Given the description of an element on the screen output the (x, y) to click on. 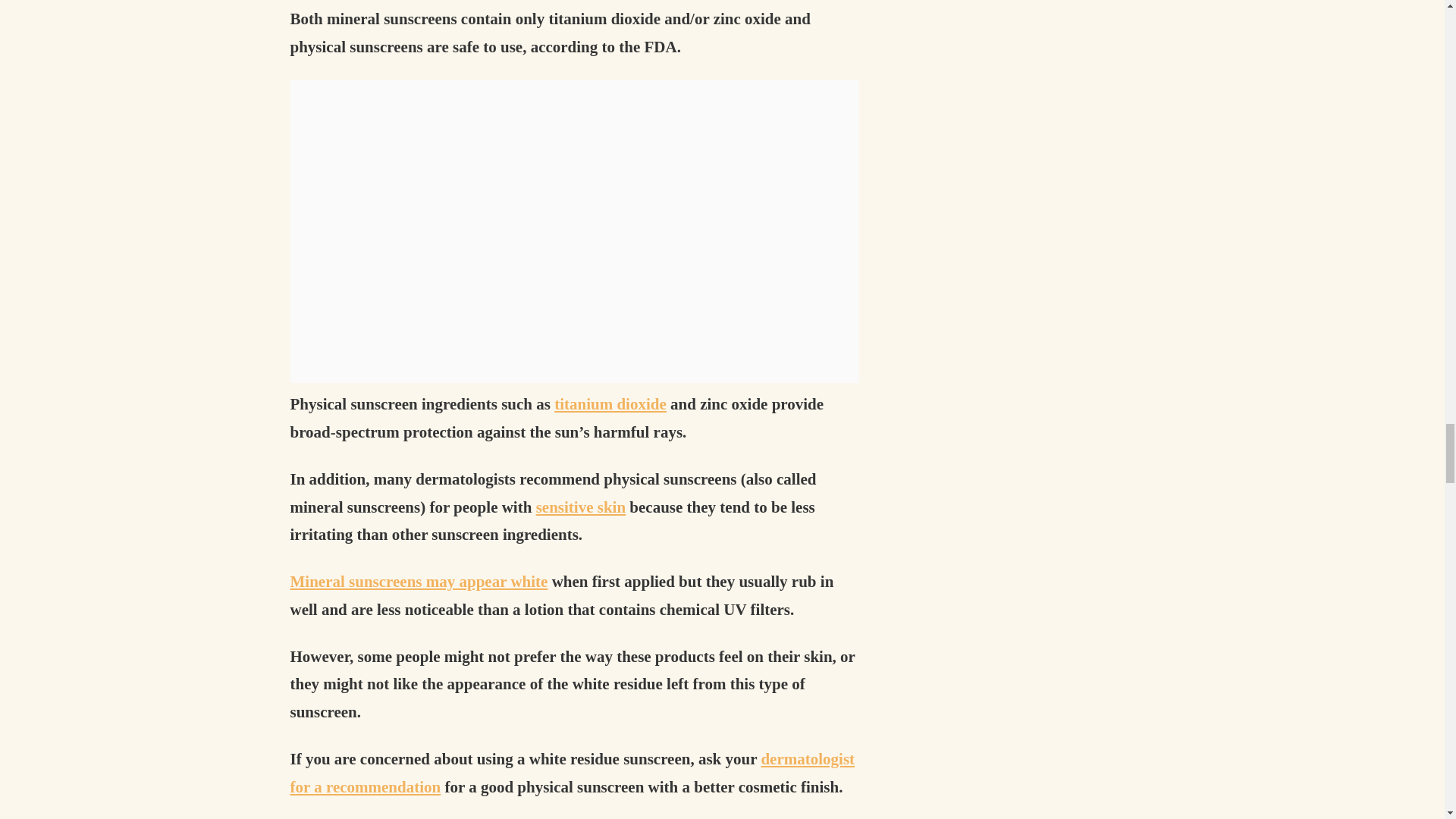
sensitive skin (580, 506)
dermatologist for a recommendation (571, 773)
titanium dioxide (610, 403)
Mineral sunscreens may appear white (418, 581)
